Given the description of an element on the screen output the (x, y) to click on. 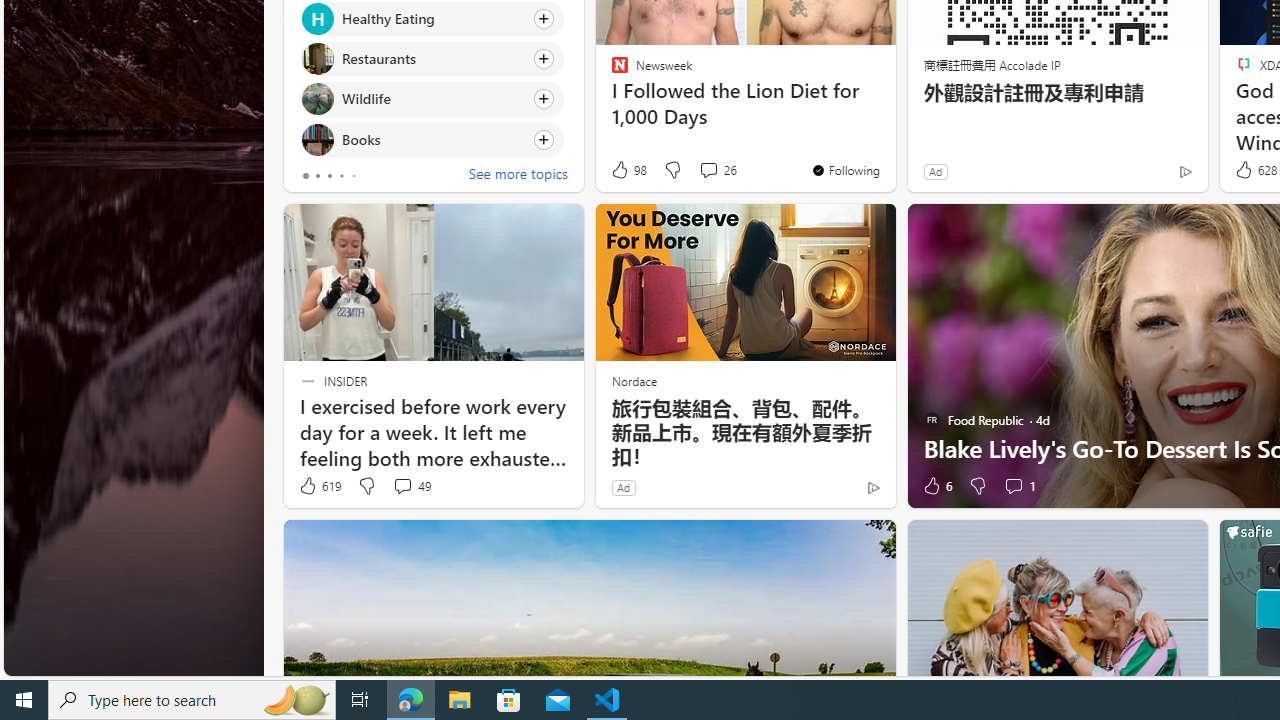
Click to follow topic Healthy Eating (431, 18)
619 Like (319, 485)
tab-1 (317, 175)
Click to follow topic Wildlife (431, 99)
tab-3 (341, 175)
98 Like (628, 170)
View comments 49 Comment (402, 485)
tab-4 (352, 175)
Click to follow topic Books (431, 138)
View comments 1 Comment (1019, 485)
Click to follow topic Restaurants (431, 59)
View comments 1 Comment (1013, 485)
